Given the description of an element on the screen output the (x, y) to click on. 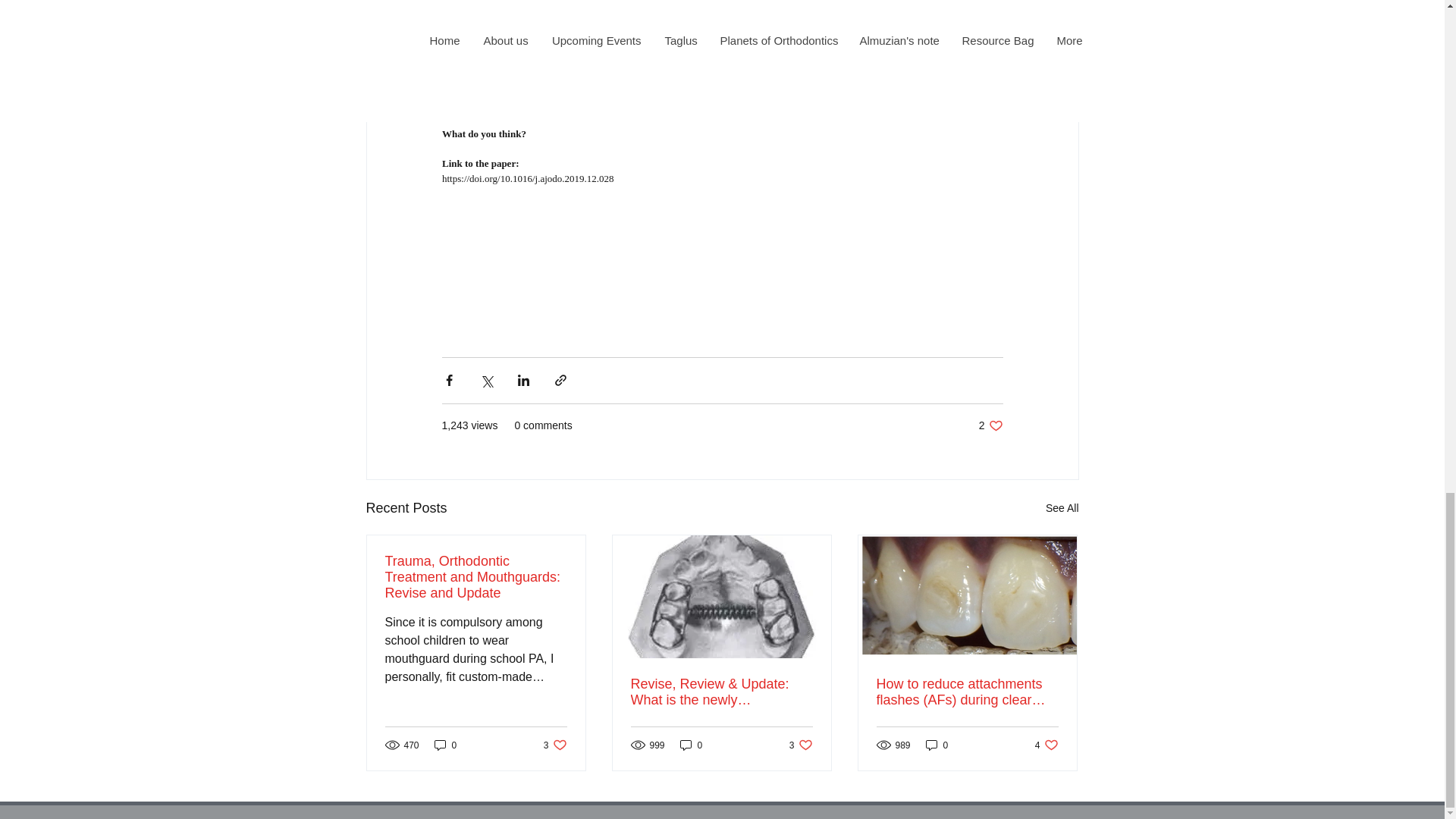
0 (990, 425)
See All (1046, 744)
0 (691, 744)
0 (555, 744)
